Given the description of an element on the screen output the (x, y) to click on. 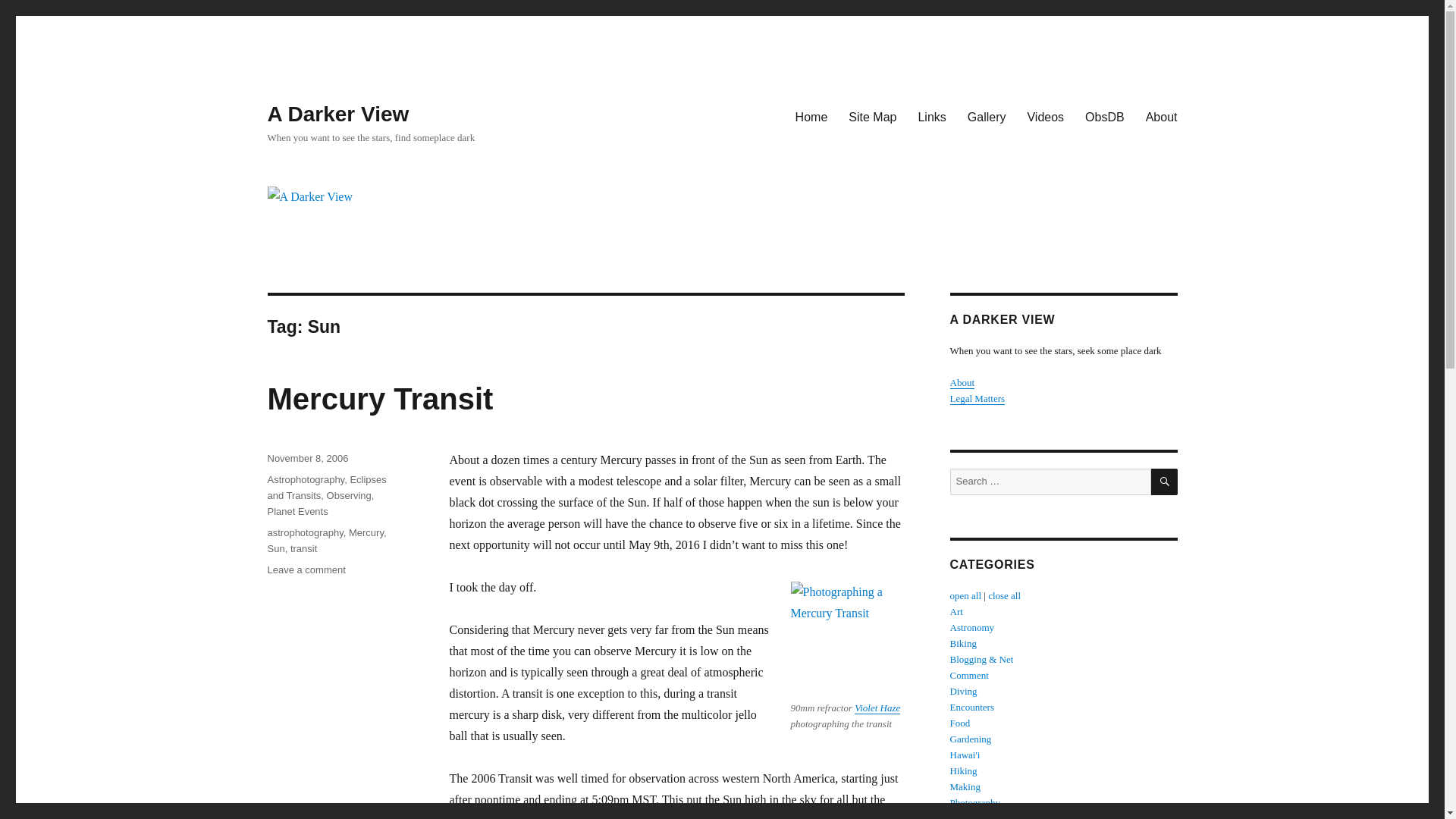
Planet Events (296, 511)
open all (965, 595)
close all (1004, 595)
About (961, 382)
November 8, 2006 (306, 458)
close all (1004, 595)
Site Map (872, 116)
Astronomy (971, 627)
Sun (305, 569)
Home (274, 548)
Videos (811, 116)
Links (1045, 116)
Gallery (931, 116)
open all (986, 116)
